Given the description of an element on the screen output the (x, y) to click on. 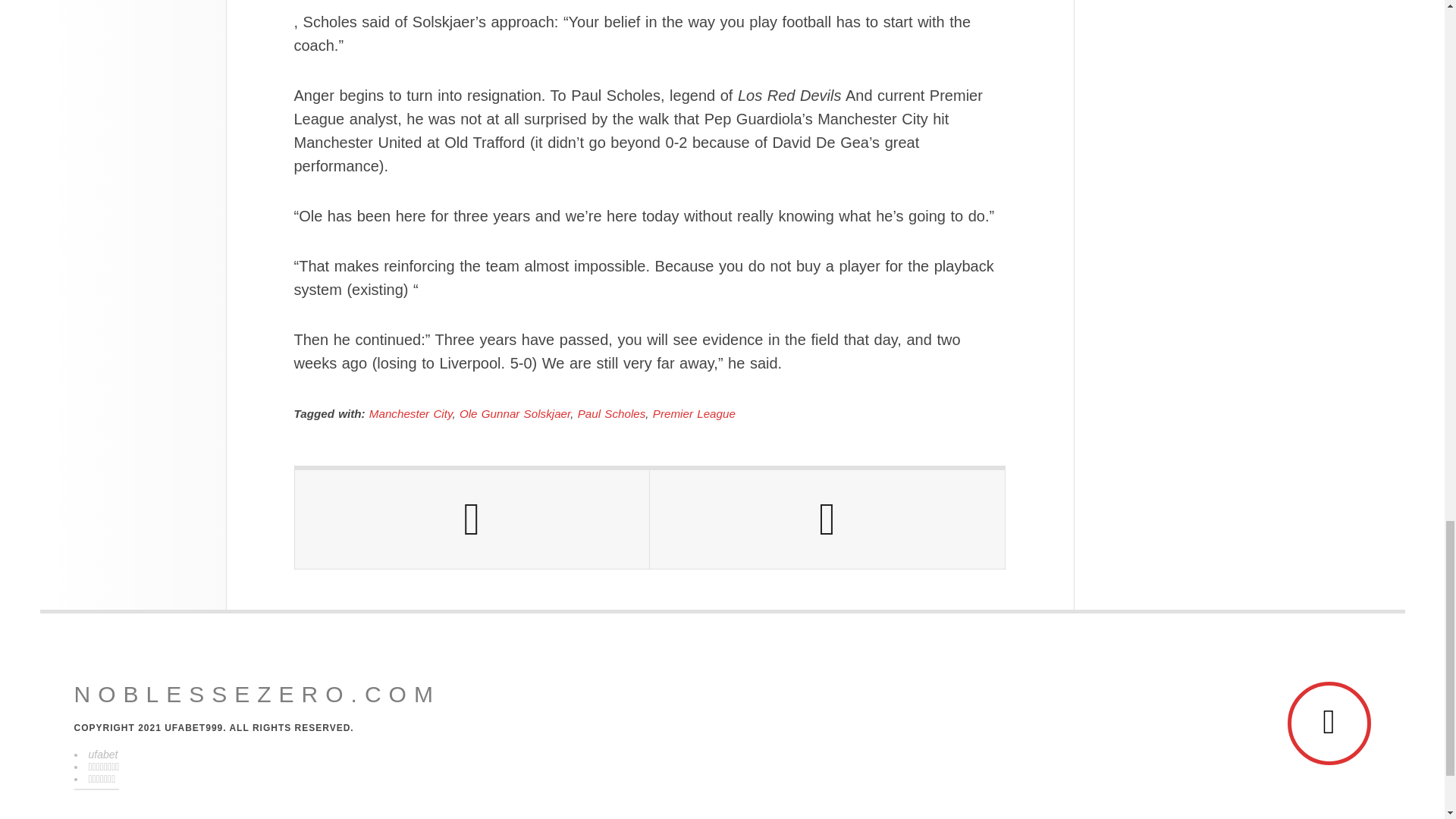
Premier League (693, 413)
Manchester City (410, 413)
Ole Gunnar Solskjaer (515, 413)
noblessezero.com (257, 694)
Previous Post (471, 519)
Paul Scholes (612, 413)
Next Post (826, 519)
